Given the description of an element on the screen output the (x, y) to click on. 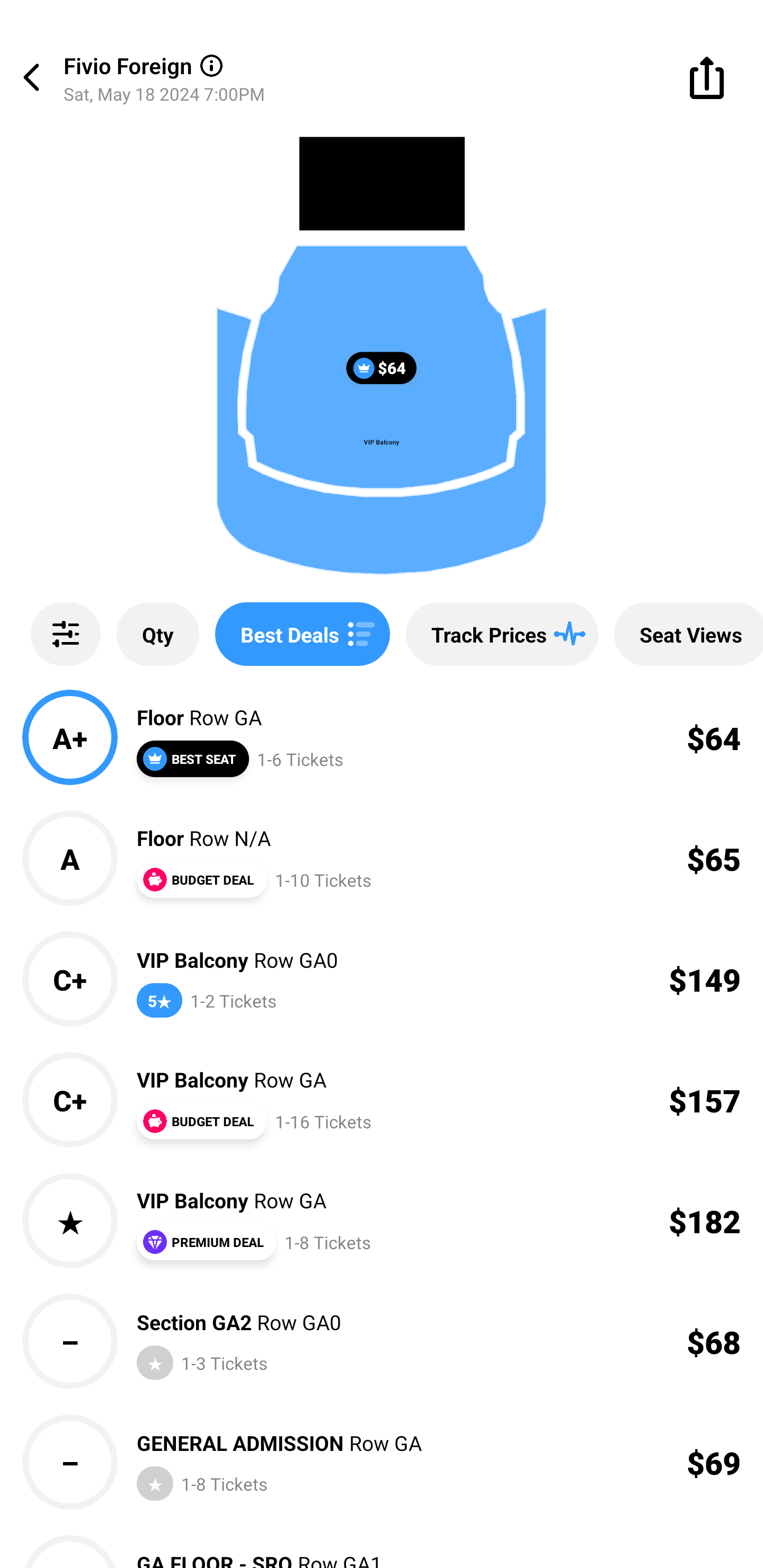
$64 (381, 367)
Qty (157, 634)
Best Deals (302, 634)
Track Prices (501, 634)
Seat Views (688, 634)
BEST SEAT (192, 758)
BUDGET DEAL (201, 879)
BUDGET DEAL (201, 1120)
PREMIUM DEAL (206, 1241)
